Given the description of an element on the screen output the (x, y) to click on. 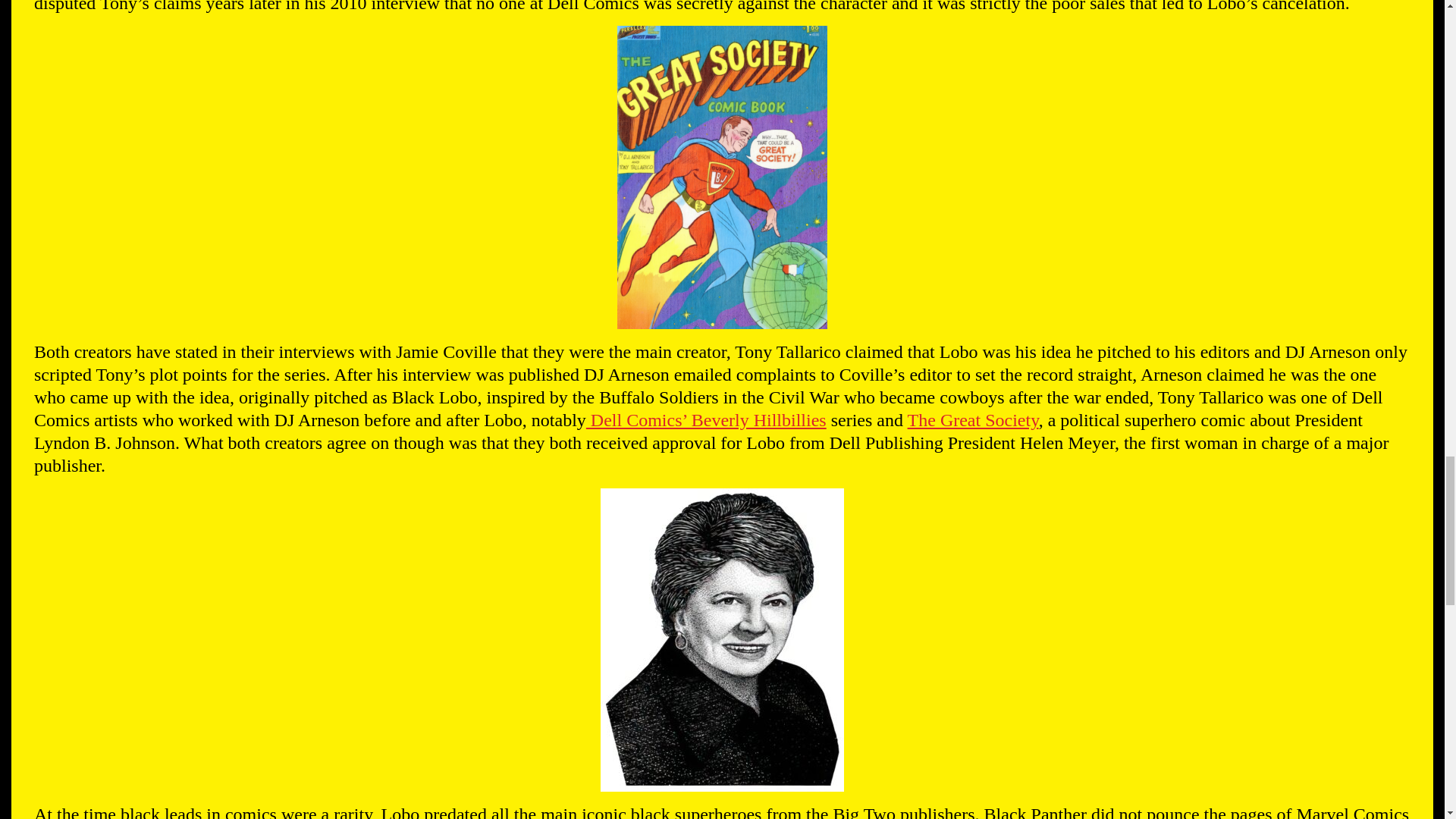
The Great Society (973, 419)
